Given the description of an element on the screen output the (x, y) to click on. 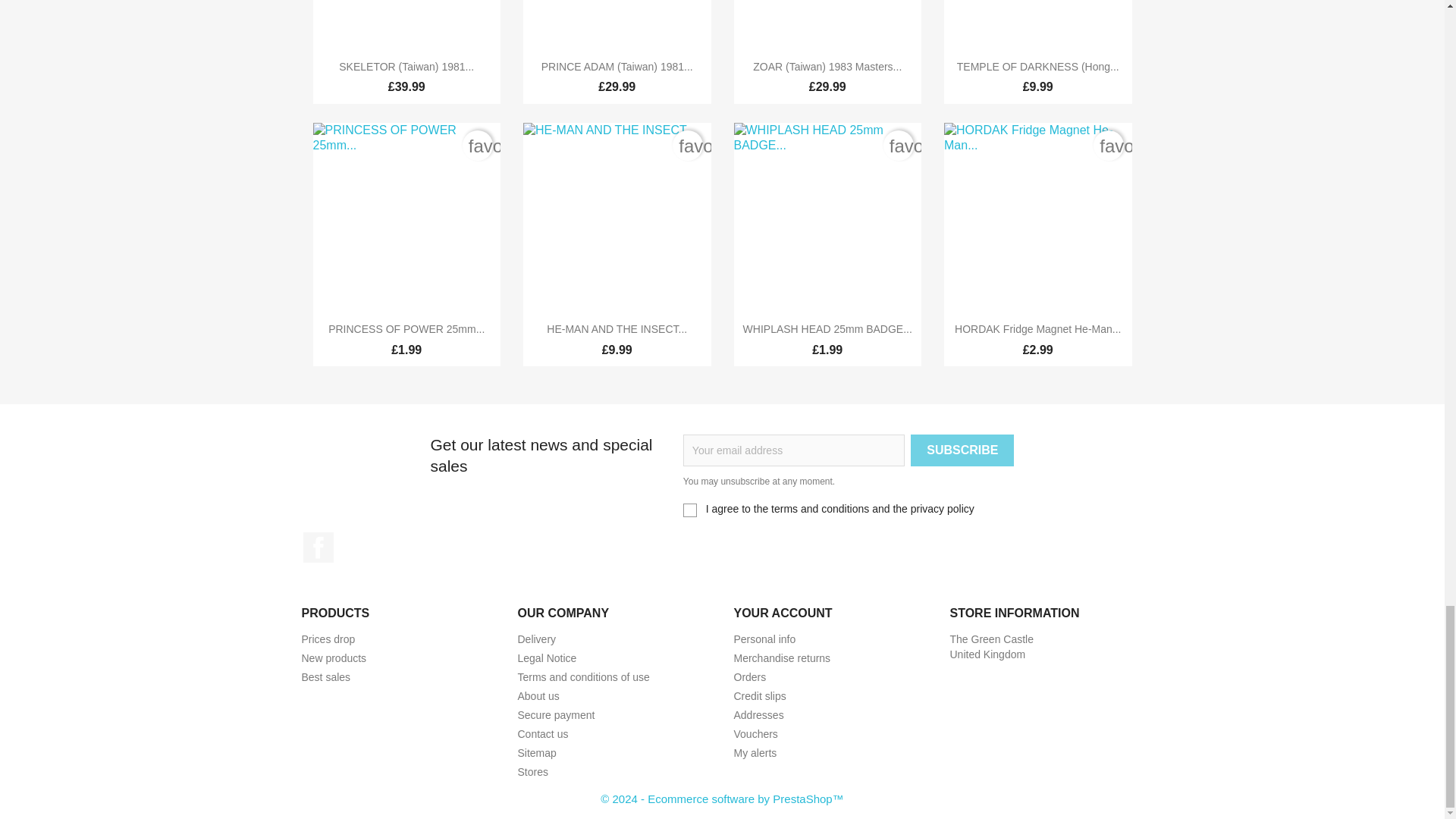
Our secure payment method (555, 715)
Merchandise returns (782, 657)
Our new products (333, 657)
Orders (750, 676)
Subscribe (962, 450)
Our special products (328, 639)
Credit slips (759, 695)
Learn more about us (537, 695)
Our terms and conditions of delivery (536, 639)
Our best sales (325, 676)
